Given the description of an element on the screen output the (x, y) to click on. 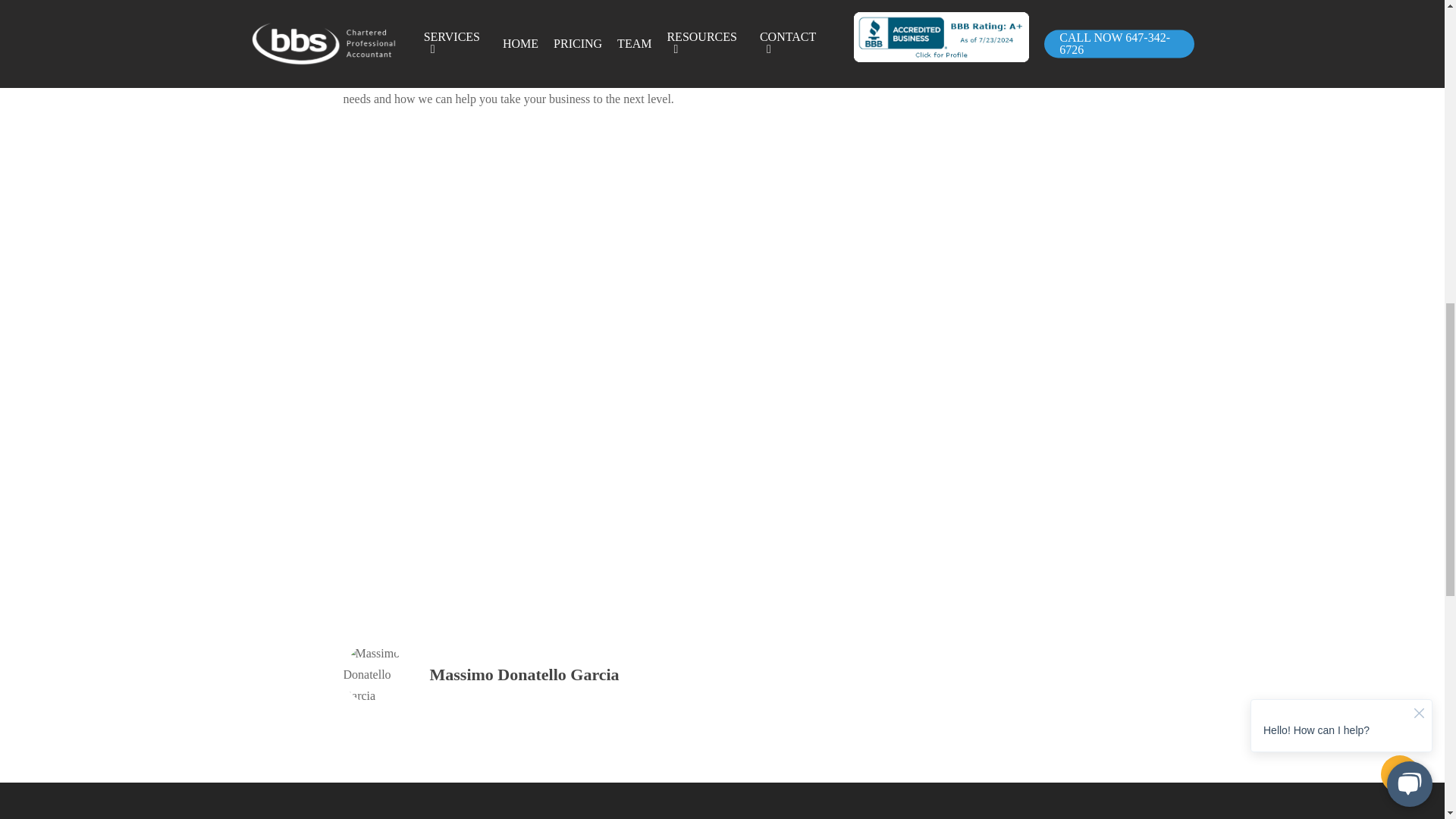
Massimo Donatello Garcia (523, 673)
BBS Accounting CPA today (811, 77)
